Given the description of an element on the screen output the (x, y) to click on. 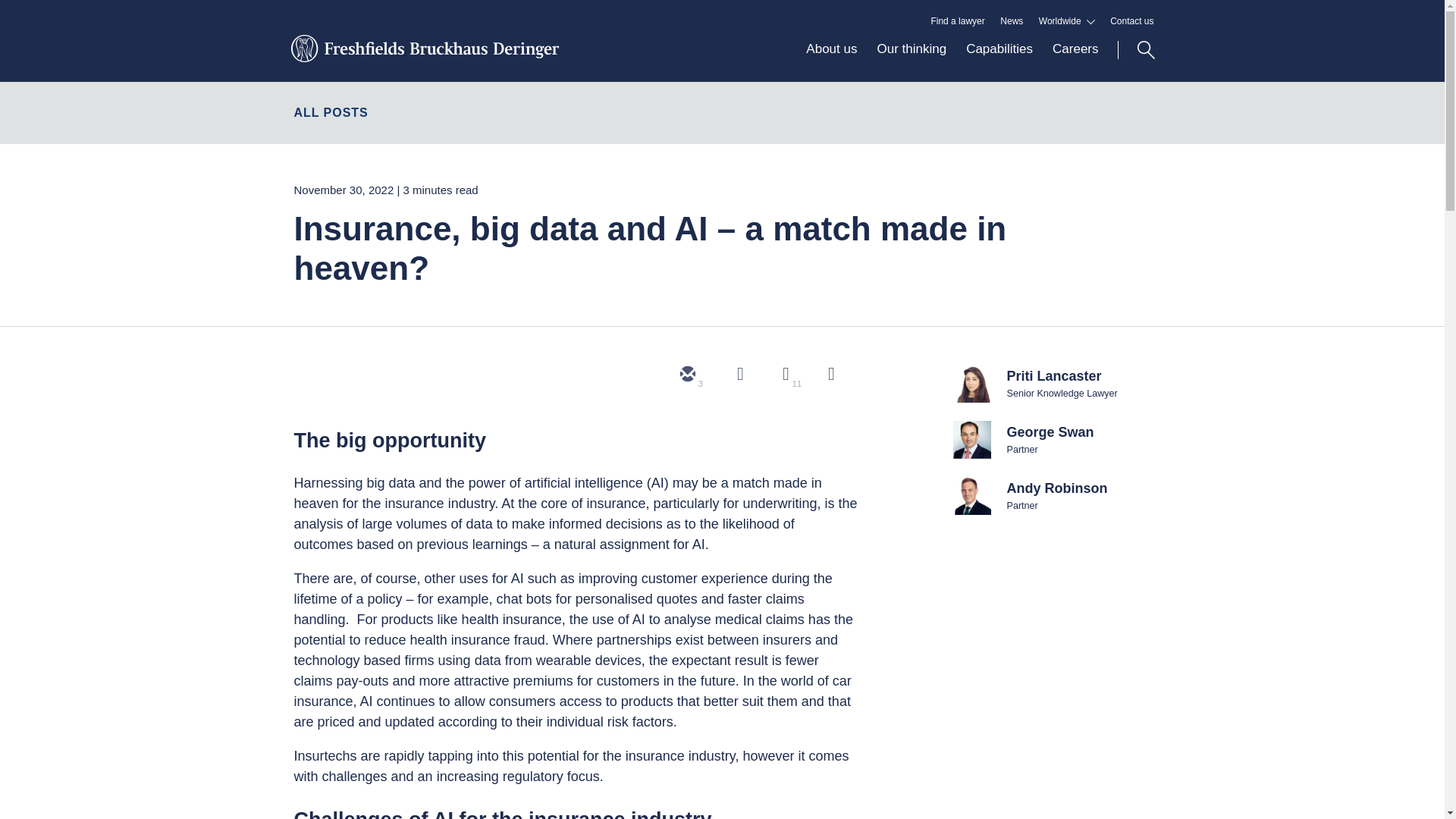
News (1011, 21)
Search (1136, 49)
Freshfields Bruckhaus Deringer (423, 56)
Contact us (1131, 21)
About us (831, 60)
Our thinking (911, 60)
Capabilities (999, 60)
Worldwide (1066, 21)
Find a lawyer (957, 21)
Careers (1069, 60)
